Given the description of an element on the screen output the (x, y) to click on. 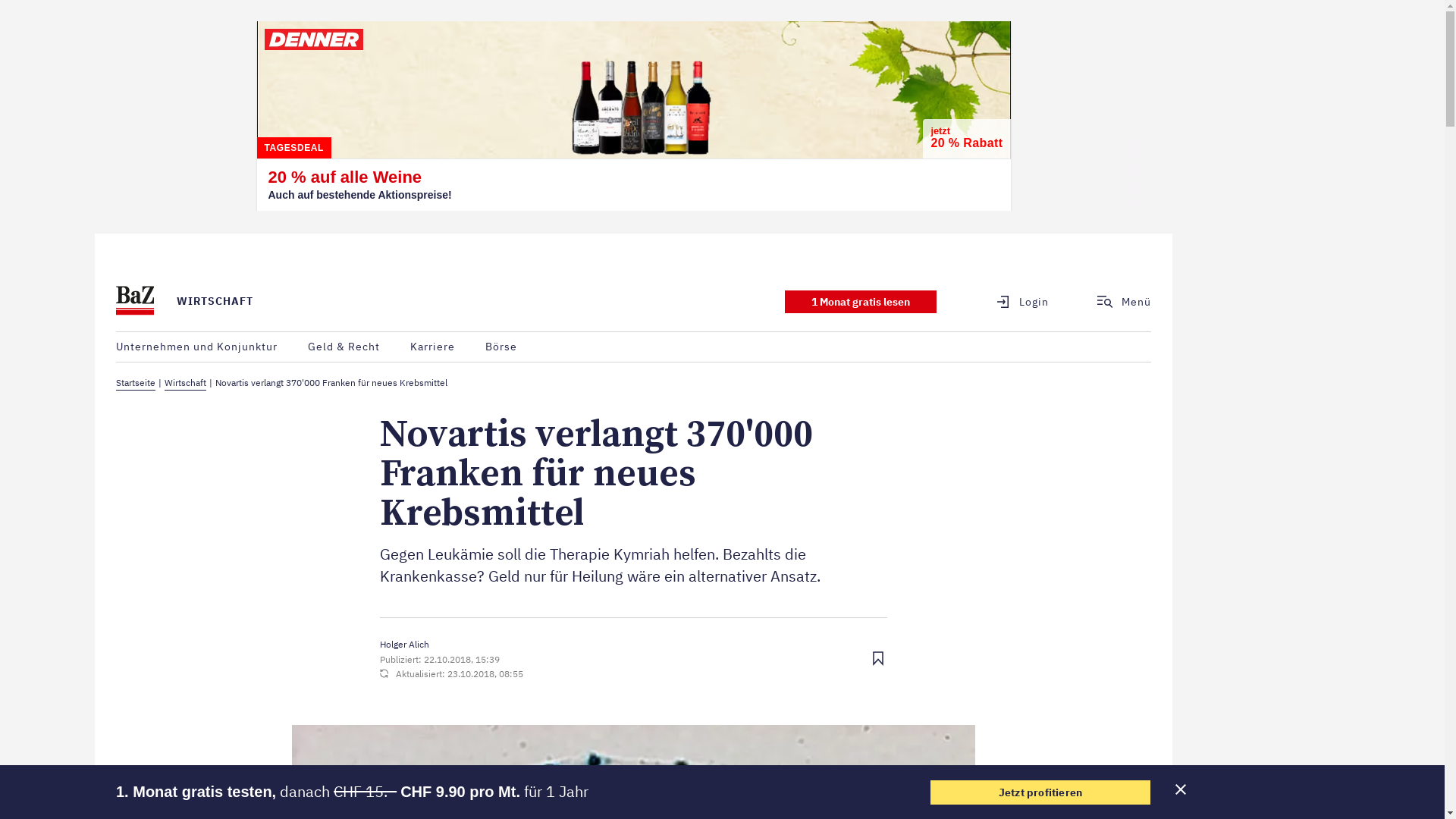
offer-1-wTopp Element type: hover (860, 300)
Unternehmen und Konjunktur Element type: text (196, 346)
Karriere Element type: text (432, 346)
3rd party ad content Element type: hover (633, 115)
WIRTSCHAFT Element type: text (214, 300)
Zum Hauptinhalt springen Element type: text (94, 233)
Geld & Recht Element type: text (343, 346)
Wirtschaft Element type: text (185, 383)
Artikel merken Element type: hover (878, 659)
Startseite Element type: text (135, 383)
Basler Zeitung Element type: text (134, 301)
Login Element type: text (1013, 301)
